Given the description of an element on the screen output the (x, y) to click on. 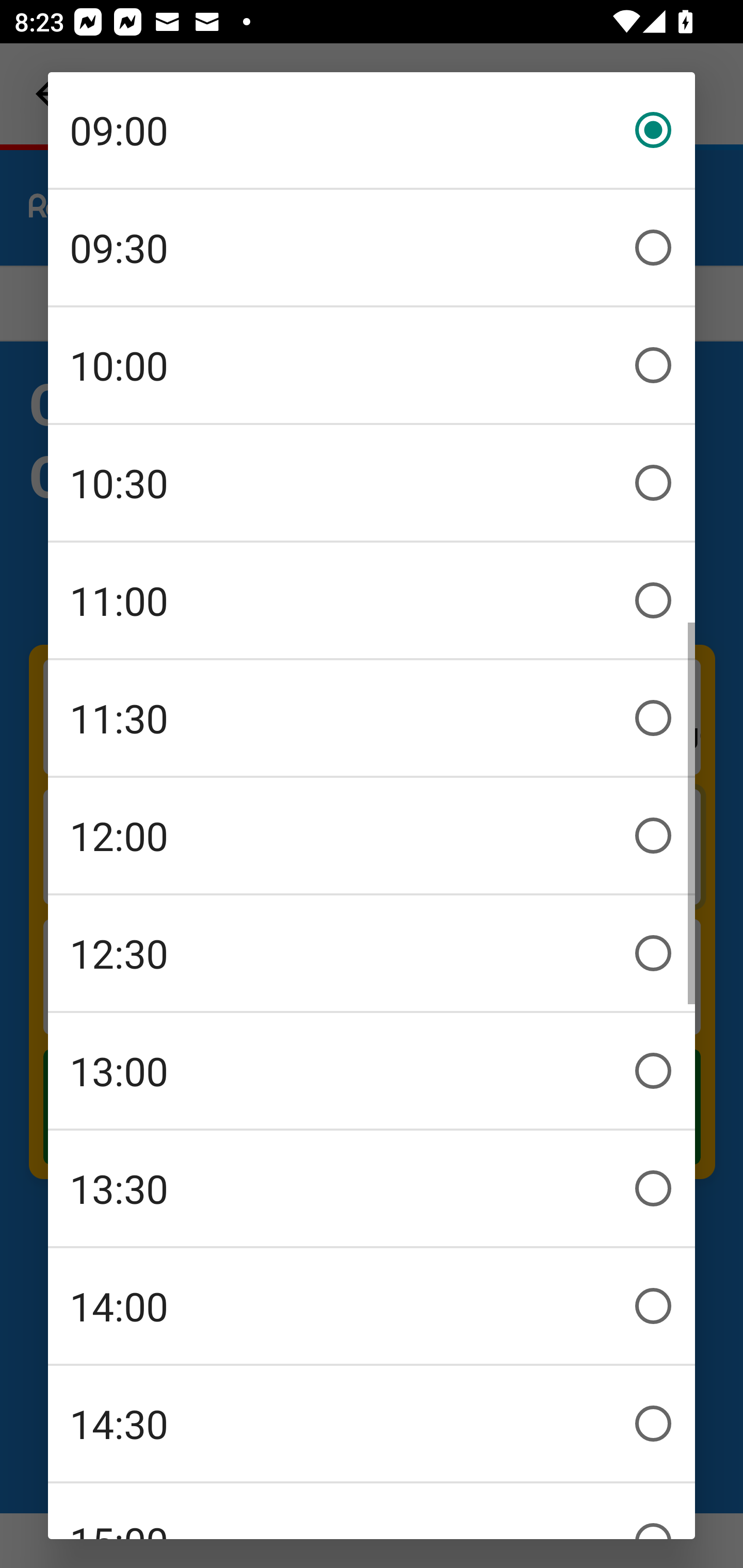
09:00 (371, 130)
09:30 (371, 247)
10:00 (371, 365)
10:30 (371, 482)
11:00 (371, 600)
11:30 (371, 718)
12:00 (371, 835)
12:30 (371, 953)
13:00 (371, 1070)
13:30 (371, 1188)
14:00 (371, 1306)
14:30 (371, 1423)
